Given the description of an element on the screen output the (x, y) to click on. 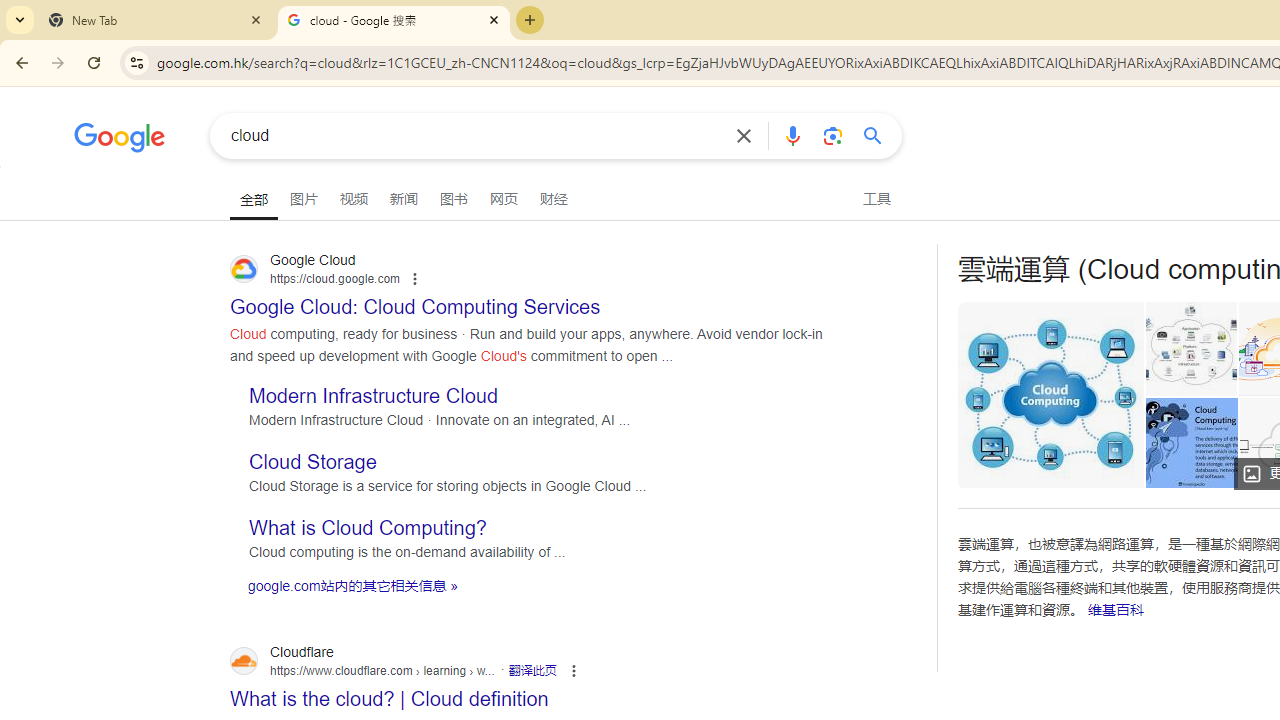
New Tab (156, 20)
Google (120, 139)
